Given the description of an element on the screen output the (x, y) to click on. 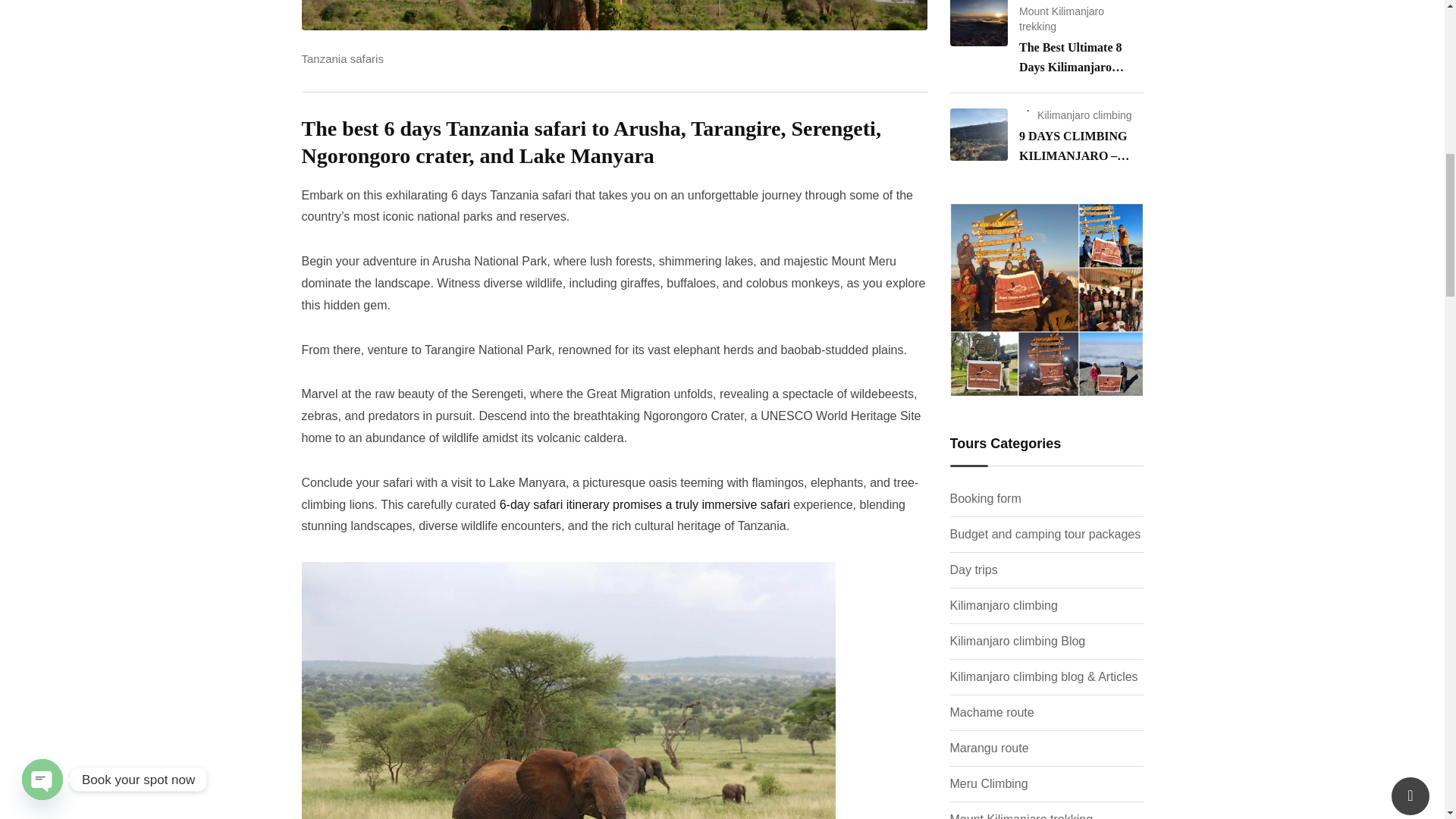
best 6 days Tanzania safari - Eddy Tours and Safaris (614, 14)
The Best Ultimate 8 Days Kilimanjaro Climbing Lemosho Route (978, 22)
